Given the description of an element on the screen output the (x, y) to click on. 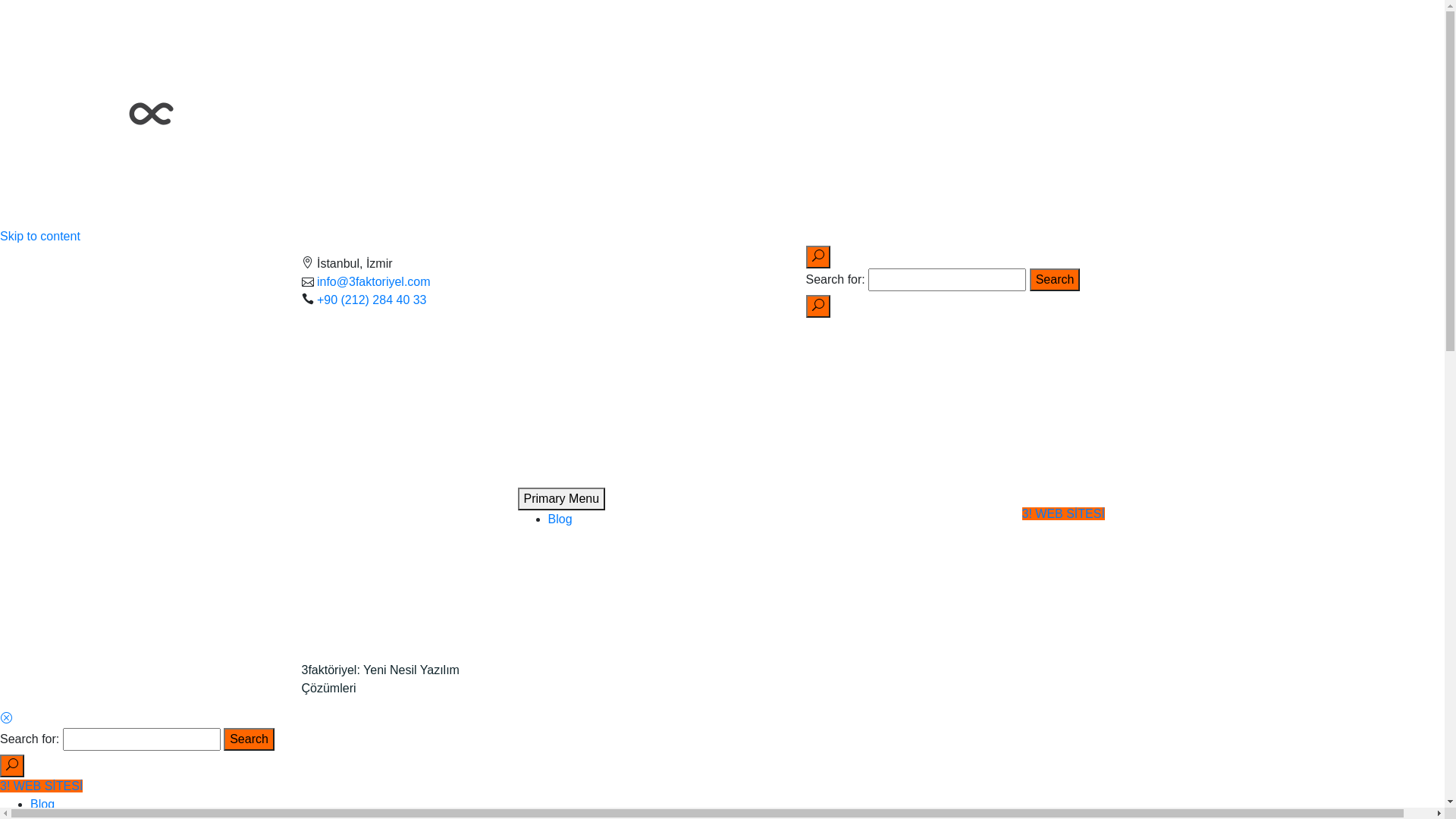
info@3faktoriyel.com Element type: text (373, 280)
Search Element type: text (1054, 279)
Blog Element type: text (42, 803)
+90 (212) 284 40 33 Element type: text (371, 298)
Skip to content Element type: text (40, 235)
Blog Element type: text (559, 518)
Primary Menu Element type: text (561, 497)
Search Element type: text (248, 739)
